Given the description of an element on the screen output the (x, y) to click on. 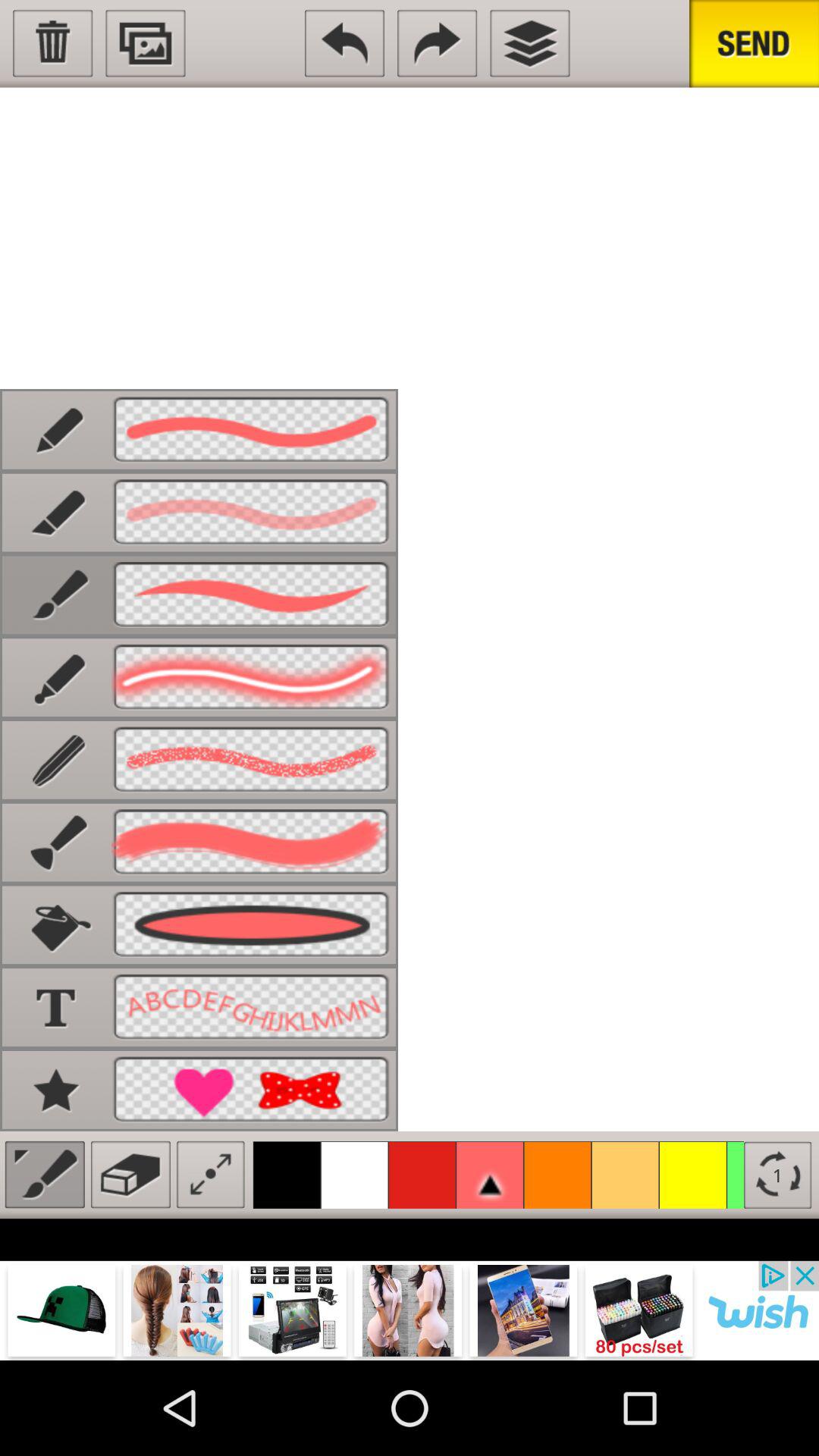
forward (437, 43)
